Given the description of an element on the screen output the (x, y) to click on. 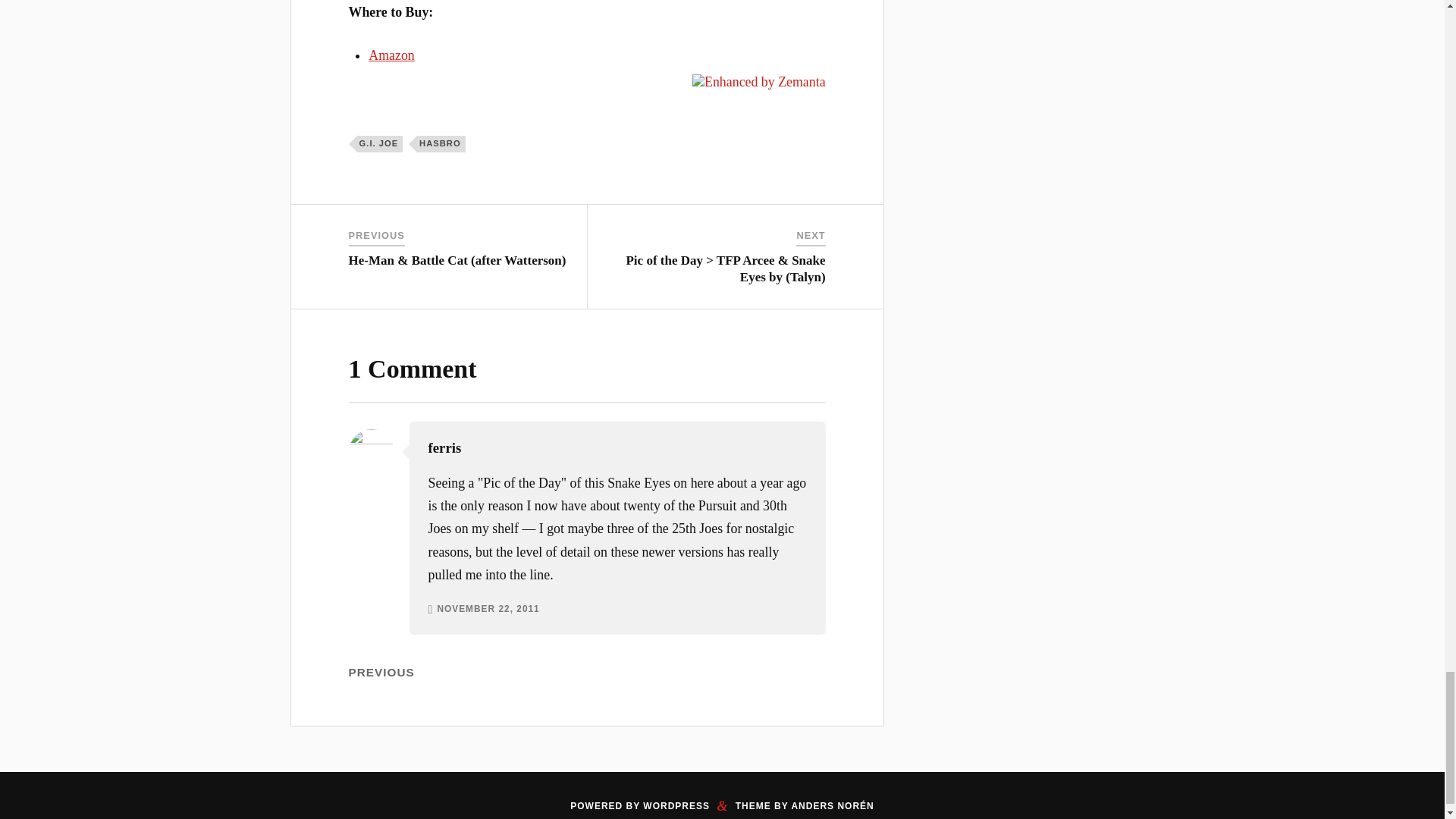
Amazon (390, 55)
